Given the description of an element on the screen output the (x, y) to click on. 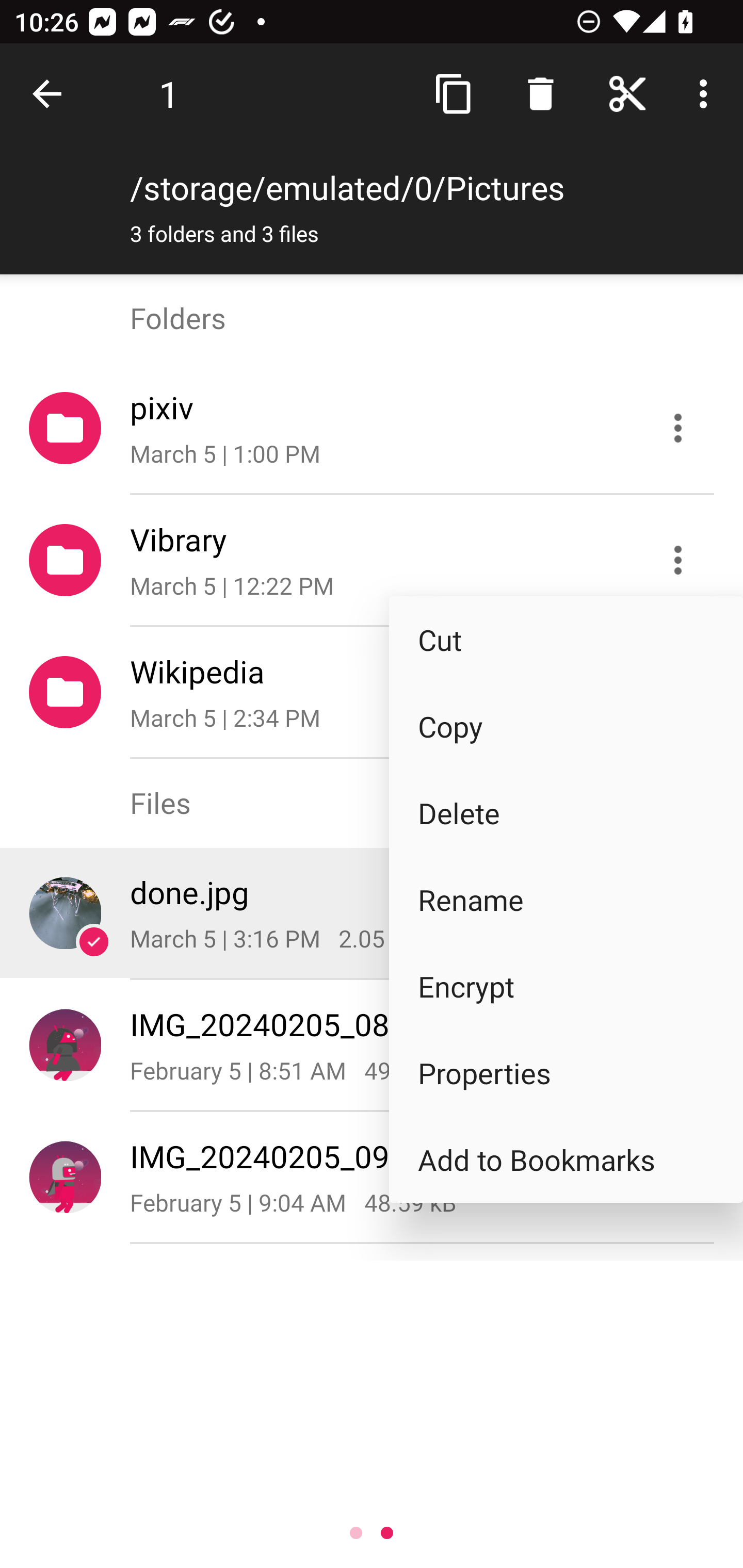
Cut (566, 639)
Copy (566, 726)
Delete (566, 812)
Rename (566, 899)
Encrypt (566, 986)
Properties (566, 1073)
Add to Bookmarks (566, 1159)
